Given the description of an element on the screen output the (x, y) to click on. 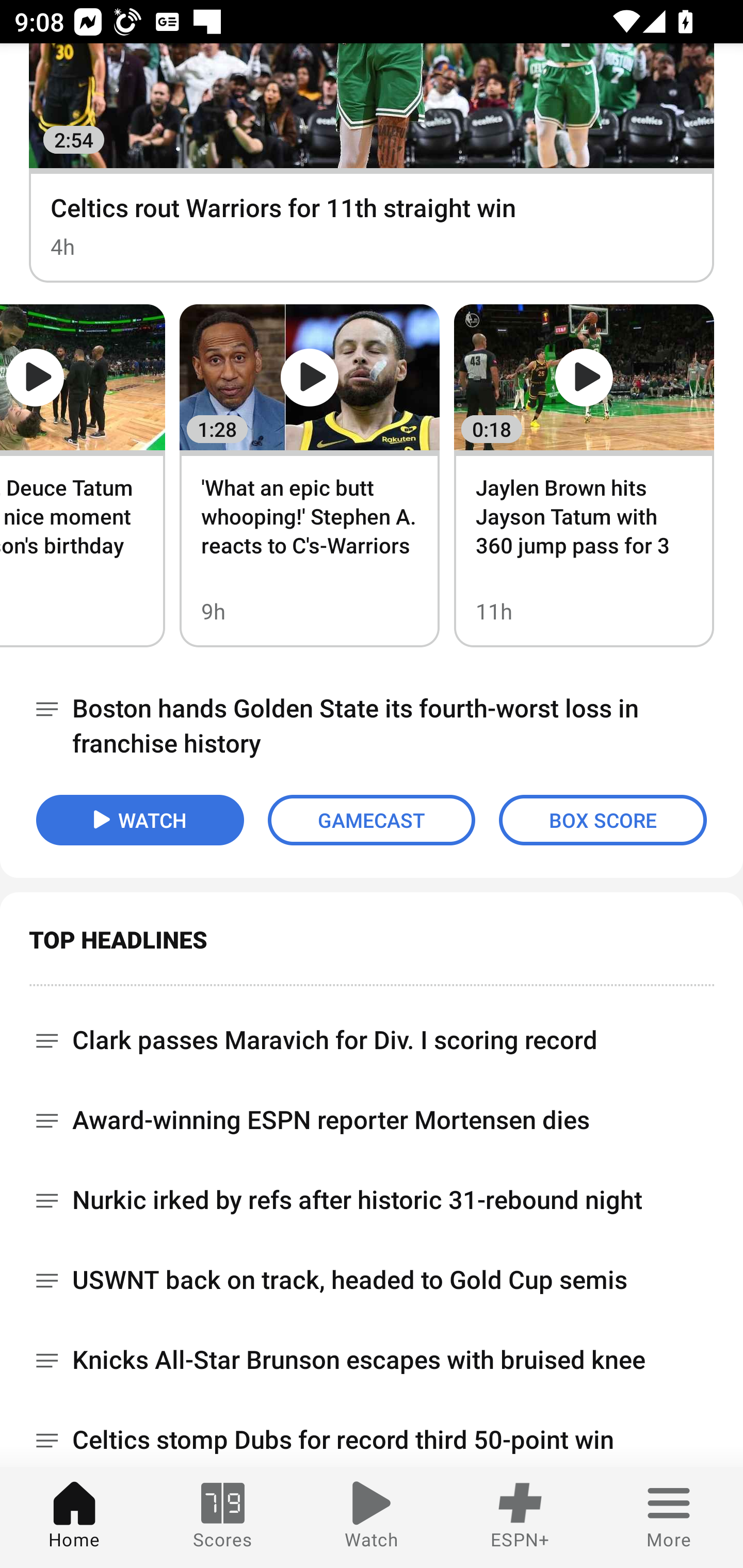
 WATCH (139, 819)
GAMECAST (371, 819)
BOX SCORE (602, 819)
 Clark passes Maravich for Div. I scoring record (371, 1033)
 Award-winning ESPN reporter Mortensen dies (371, 1120)
 USWNT back on track, headed to Gold Cup semis (371, 1280)
 Celtics stomp Dubs for record third 50-point win (371, 1433)
Scores (222, 1517)
Watch (371, 1517)
ESPN+ (519, 1517)
More (668, 1517)
